Given the description of an element on the screen output the (x, y) to click on. 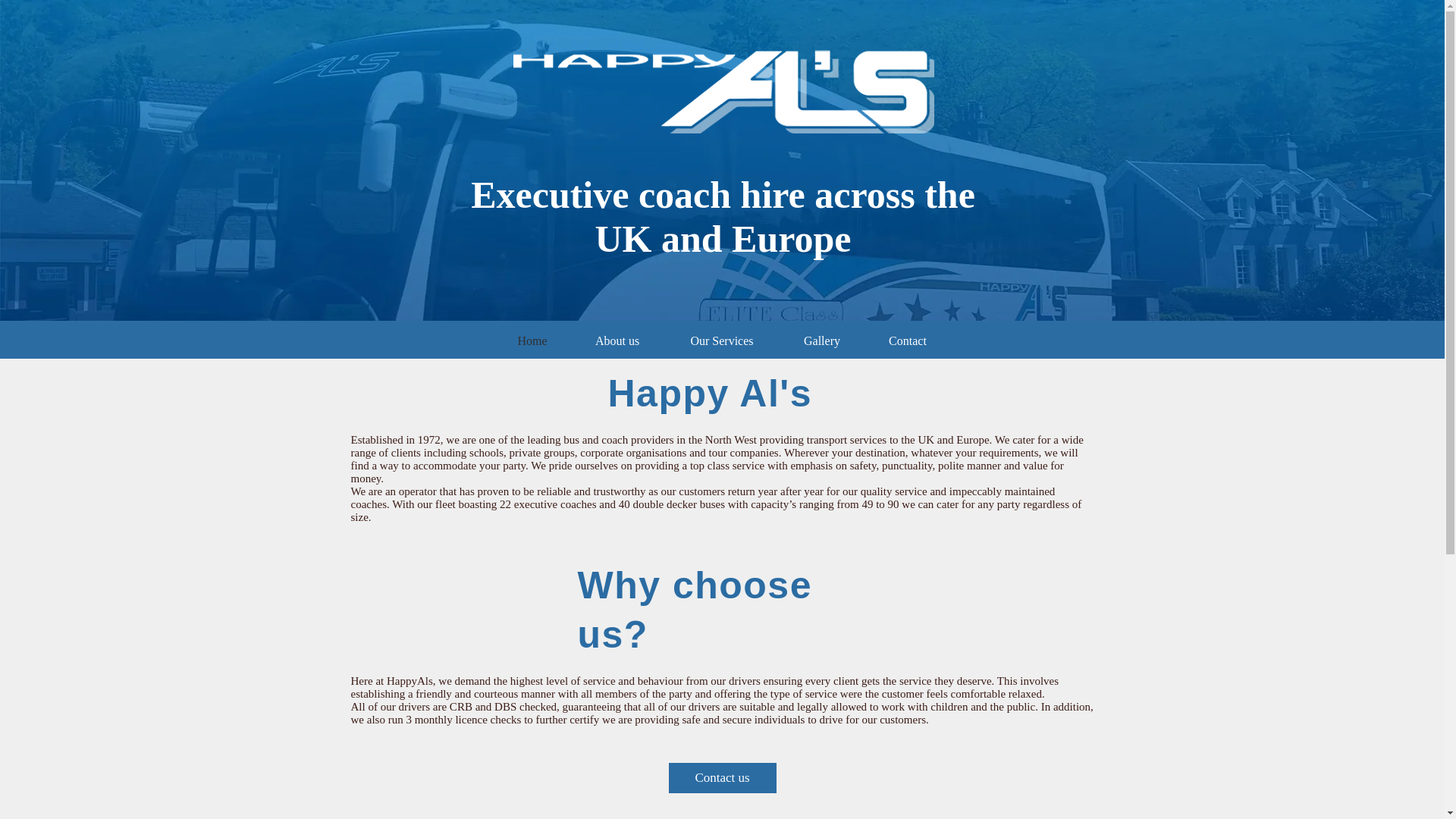
Gallery (820, 340)
Contact (908, 340)
About us (616, 340)
Our Services (721, 340)
Contact us (722, 777)
Home (532, 340)
